Given the description of an element on the screen output the (x, y) to click on. 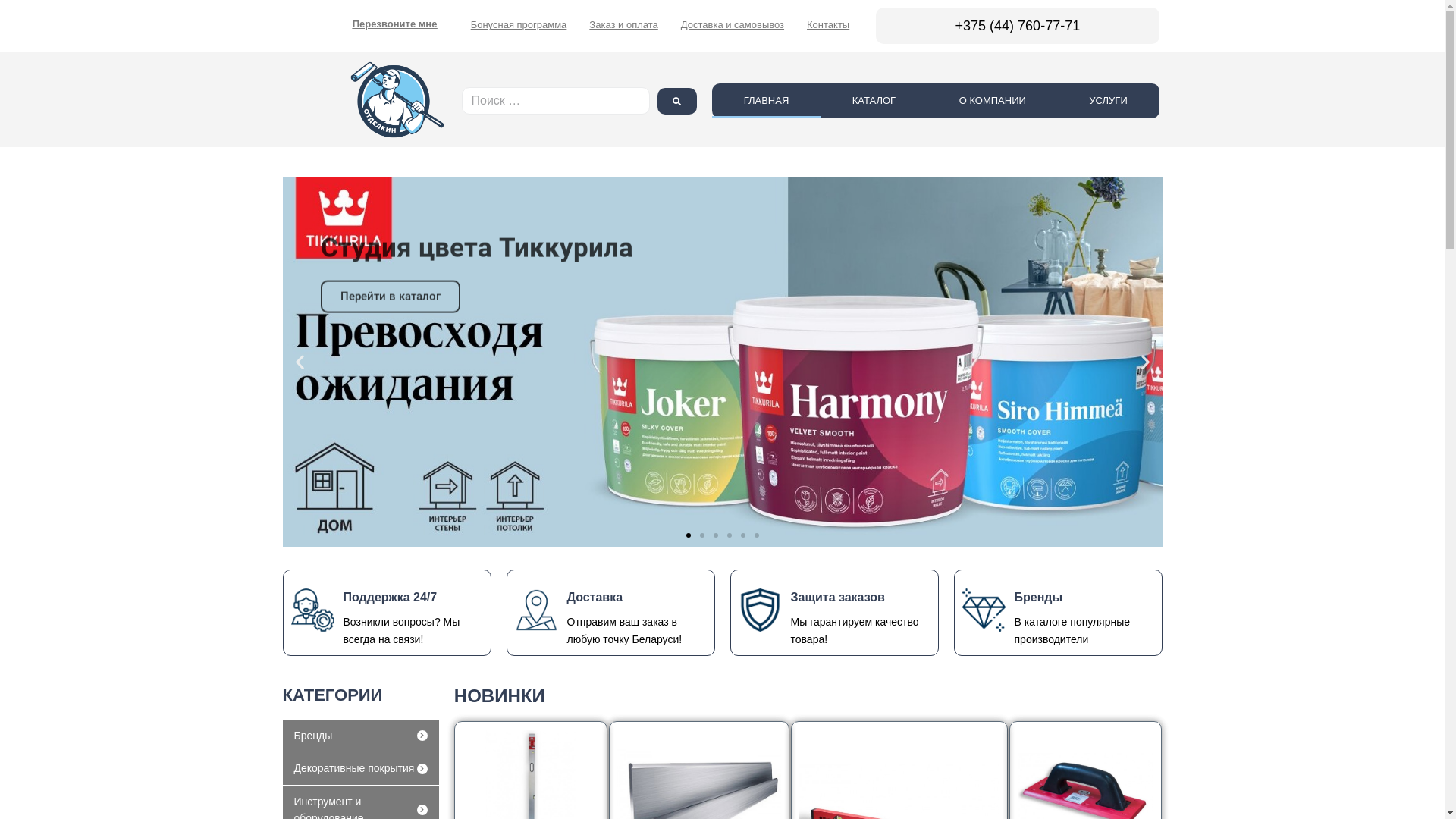
+375 (44) 760-77-71 Element type: text (1017, 25)
